Given the description of an element on the screen output the (x, y) to click on. 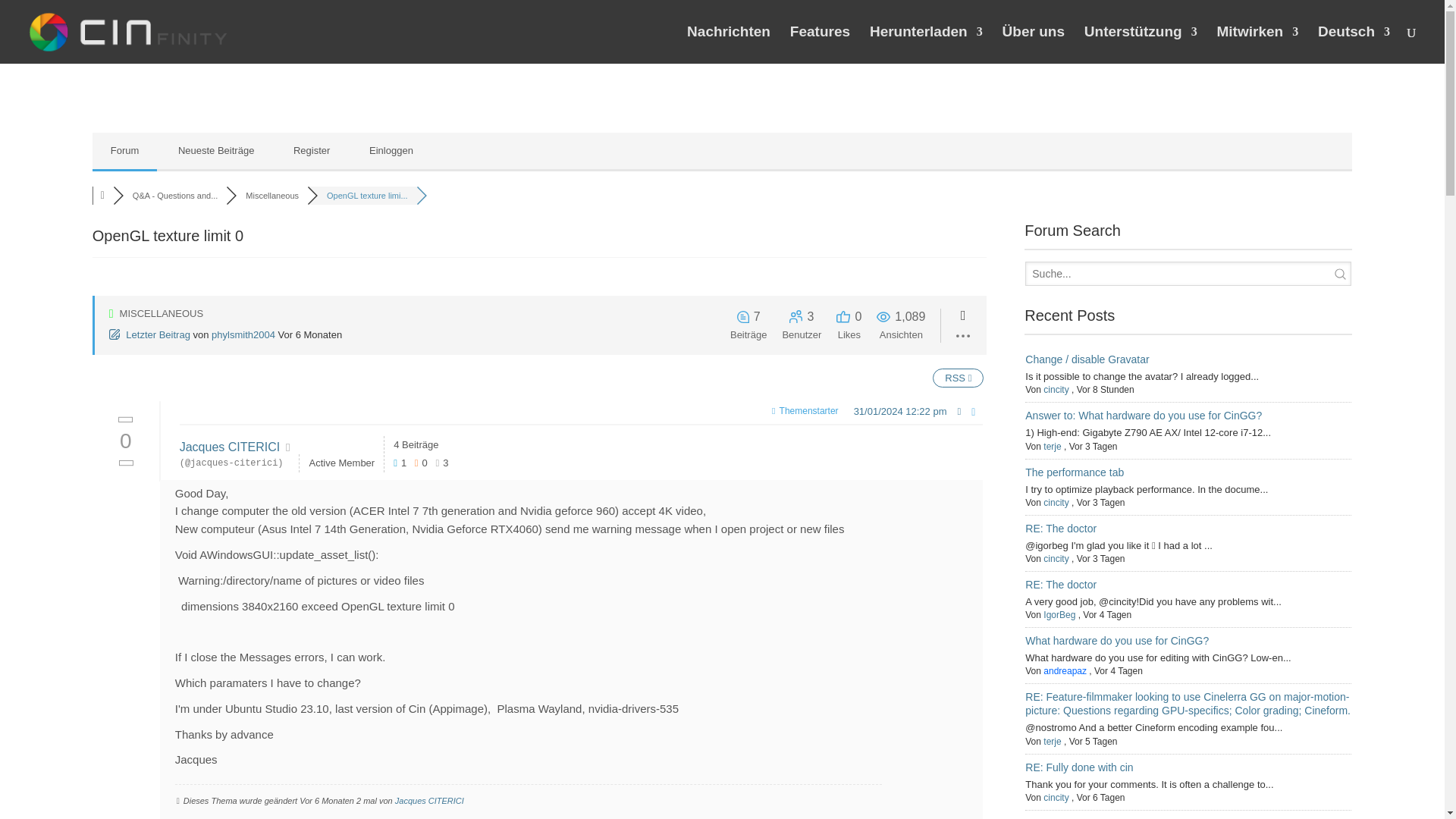
phylsmith2004 (243, 334)
Features (820, 44)
Deutsch (1353, 44)
Deutsch (1353, 44)
Foren (102, 194)
Mitwirken (1257, 44)
Herunterladen (925, 44)
Nachrichten (728, 44)
Miscellaneous (272, 194)
